Given the description of an element on the screen output the (x, y) to click on. 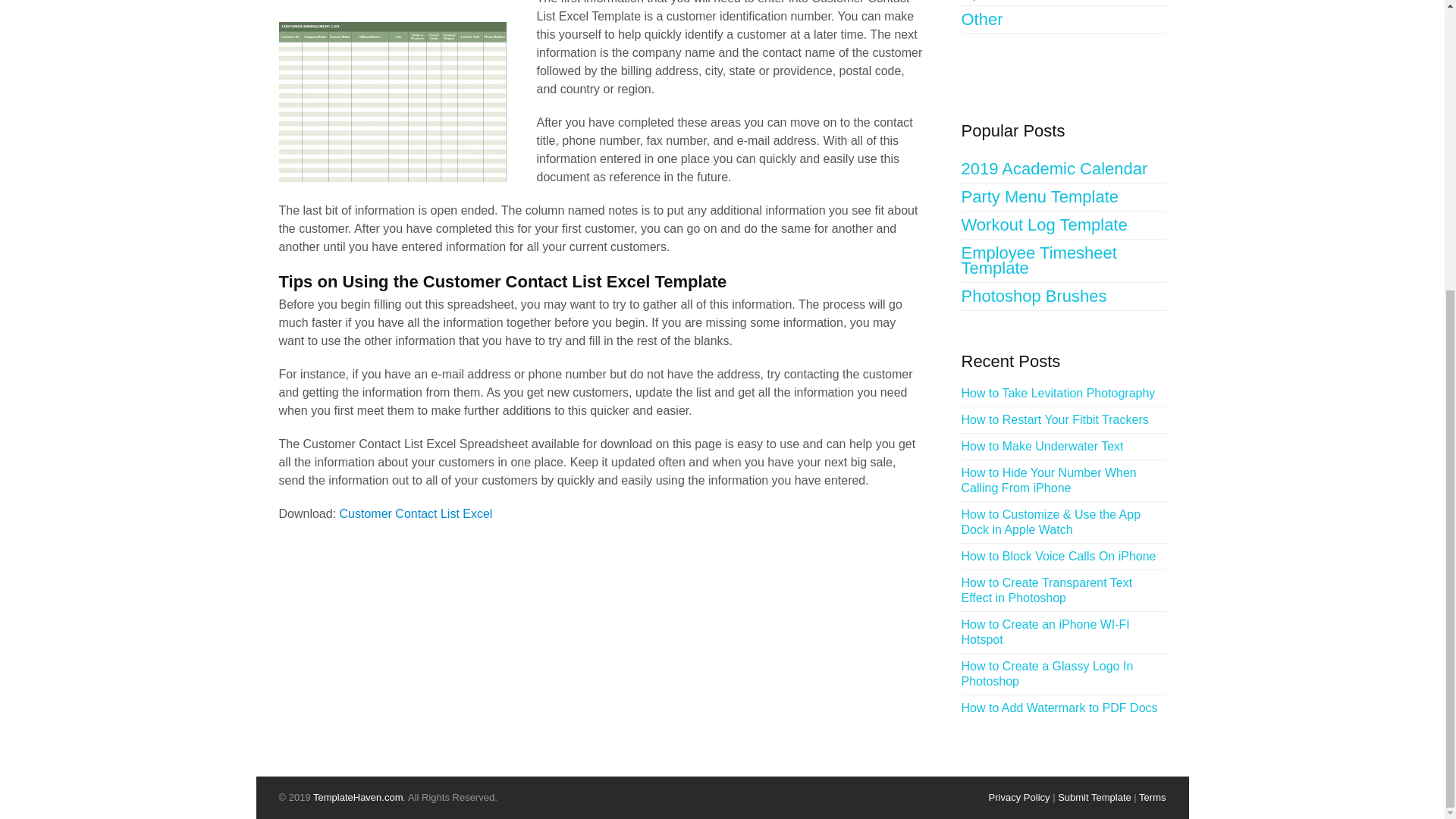
Party Menu Template (1063, 197)
Photoshop Brushes (1063, 296)
Sports (1063, 2)
How to Take Levitation Photography (1059, 393)
How to Restart Your Fitbit Trackers (1056, 419)
Customer Contact List Excel (416, 513)
How to Add Watermark to PDF Docs (1060, 708)
How to Create an iPhone WI-FI Hotspot (1063, 632)
TemplateHaven.com (358, 797)
How to Create Transparent Text Effect in Photoshop (1063, 590)
Workout Log Template (1063, 225)
Advertisement (400, 4)
How to Hide Your Number When Calling From iPhone (1063, 481)
How to Make Underwater Text (1043, 446)
How to Block Voice Calls On iPhone (1060, 556)
